Given the description of an element on the screen output the (x, y) to click on. 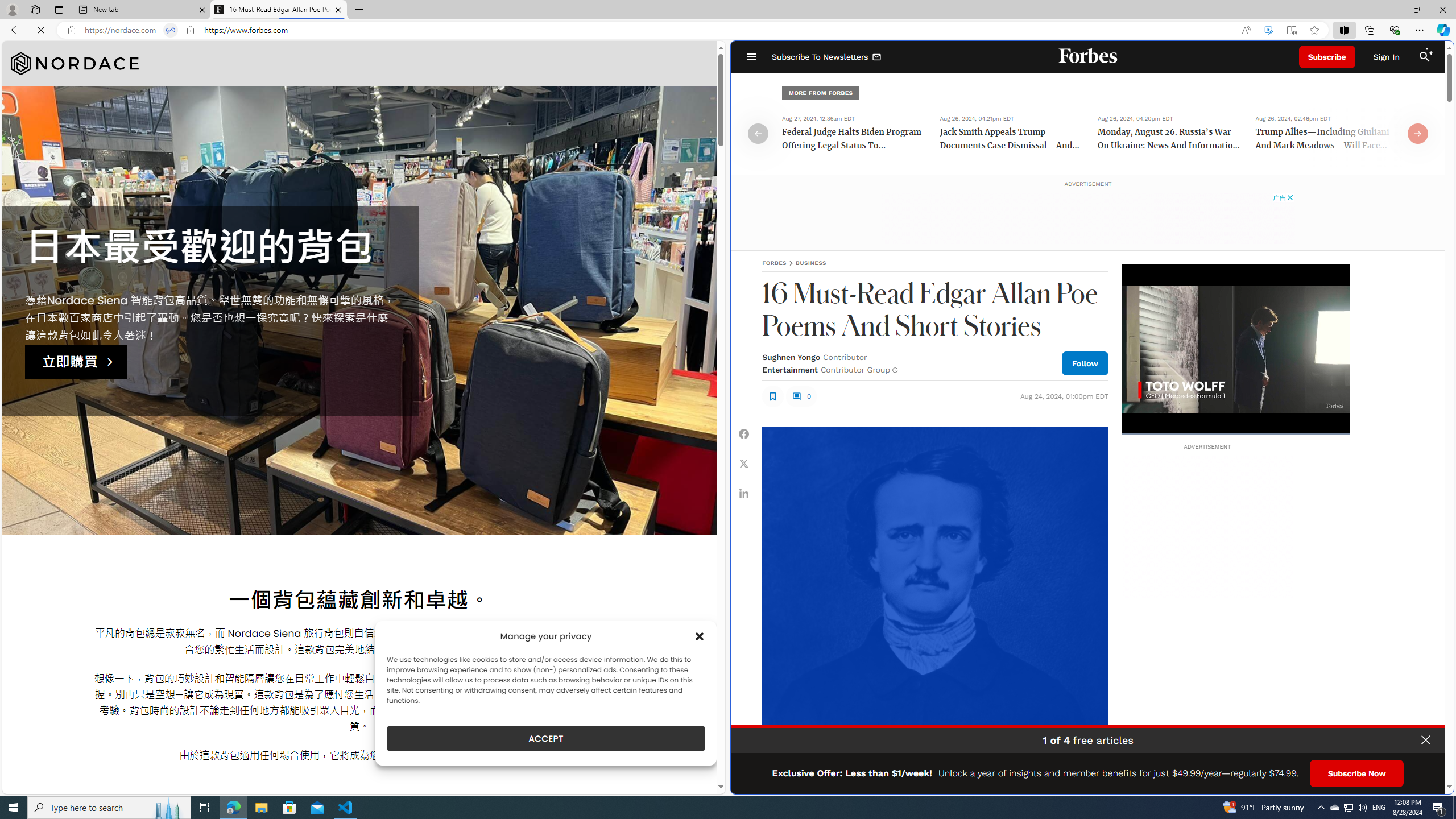
Share Twitter (743, 463)
Tabs in split screen (170, 29)
Class: fs-icon fs-icon--comment (796, 396)
Class: fs-icon fs-icon--linkedin (743, 493)
Class: fs-icon fs-icon--arrow-left (758, 133)
Sughnen Yongo (790, 356)
Class: fs-icon fs-icon--arrow-right (1417, 133)
Class: sparkles_svg__fs-icon sparkles_svg__fs-icon--sparkles (1430, 51)
BUSINESS (810, 262)
